Given the description of an element on the screen output the (x, y) to click on. 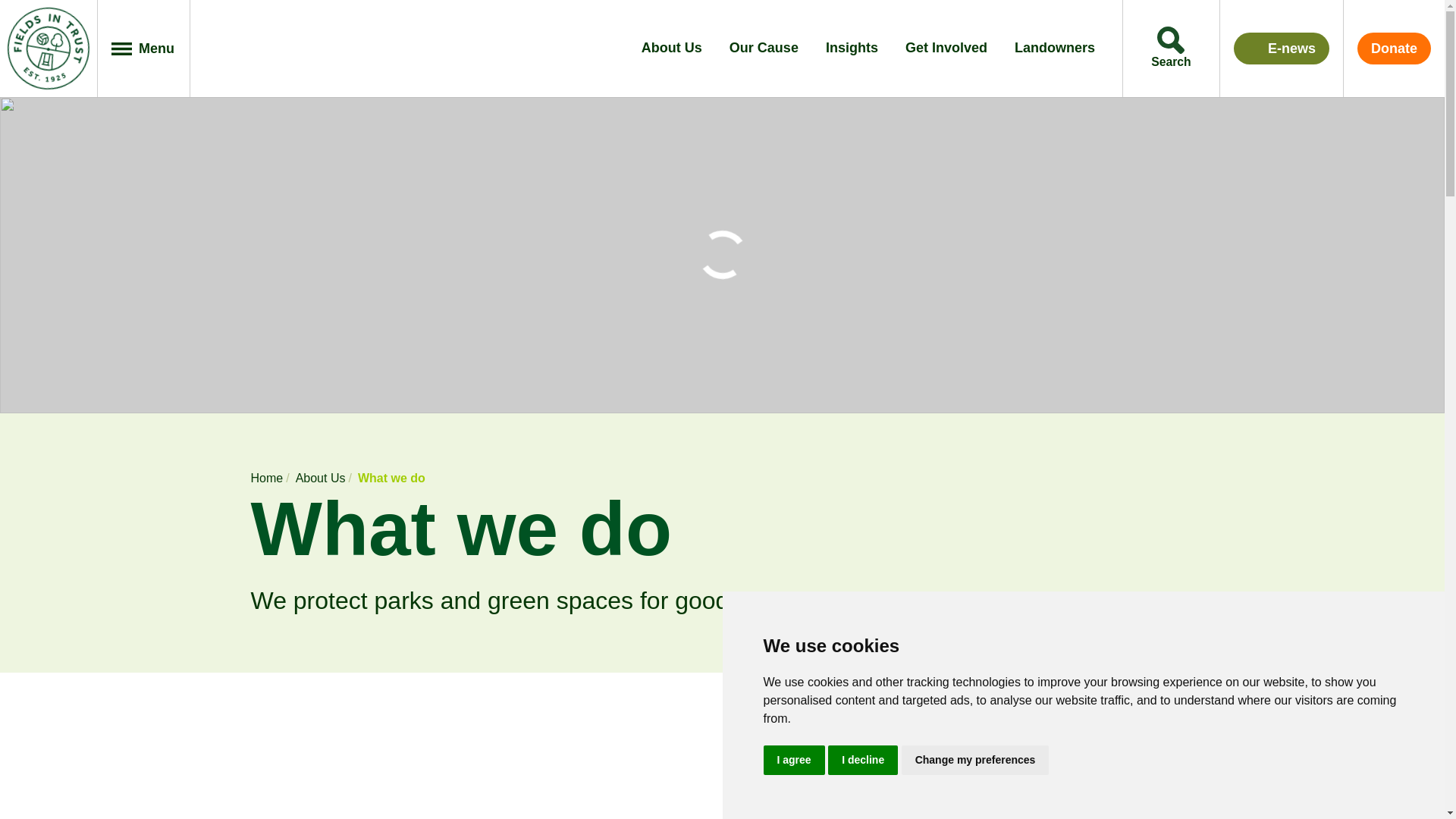
Our Cause (763, 49)
E-news (1281, 48)
Get Involved (946, 49)
Search (1171, 48)
I agree (793, 758)
Landowners (1054, 49)
Change my preferences (975, 758)
About Us (671, 49)
Insights (851, 49)
